Given the description of an element on the screen output the (x, y) to click on. 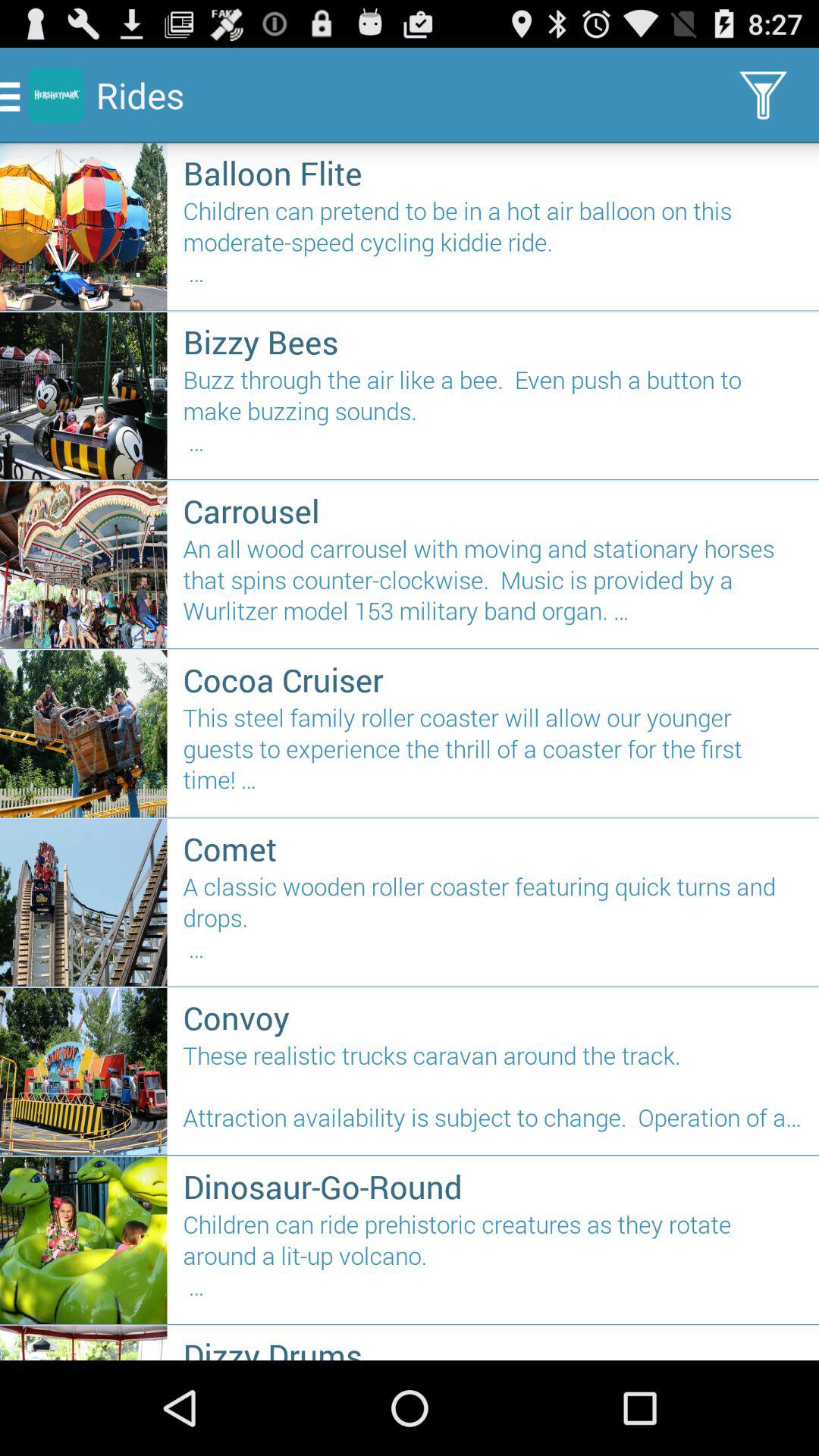
click cocoa cruiser item (493, 679)
